Given the description of an element on the screen output the (x, y) to click on. 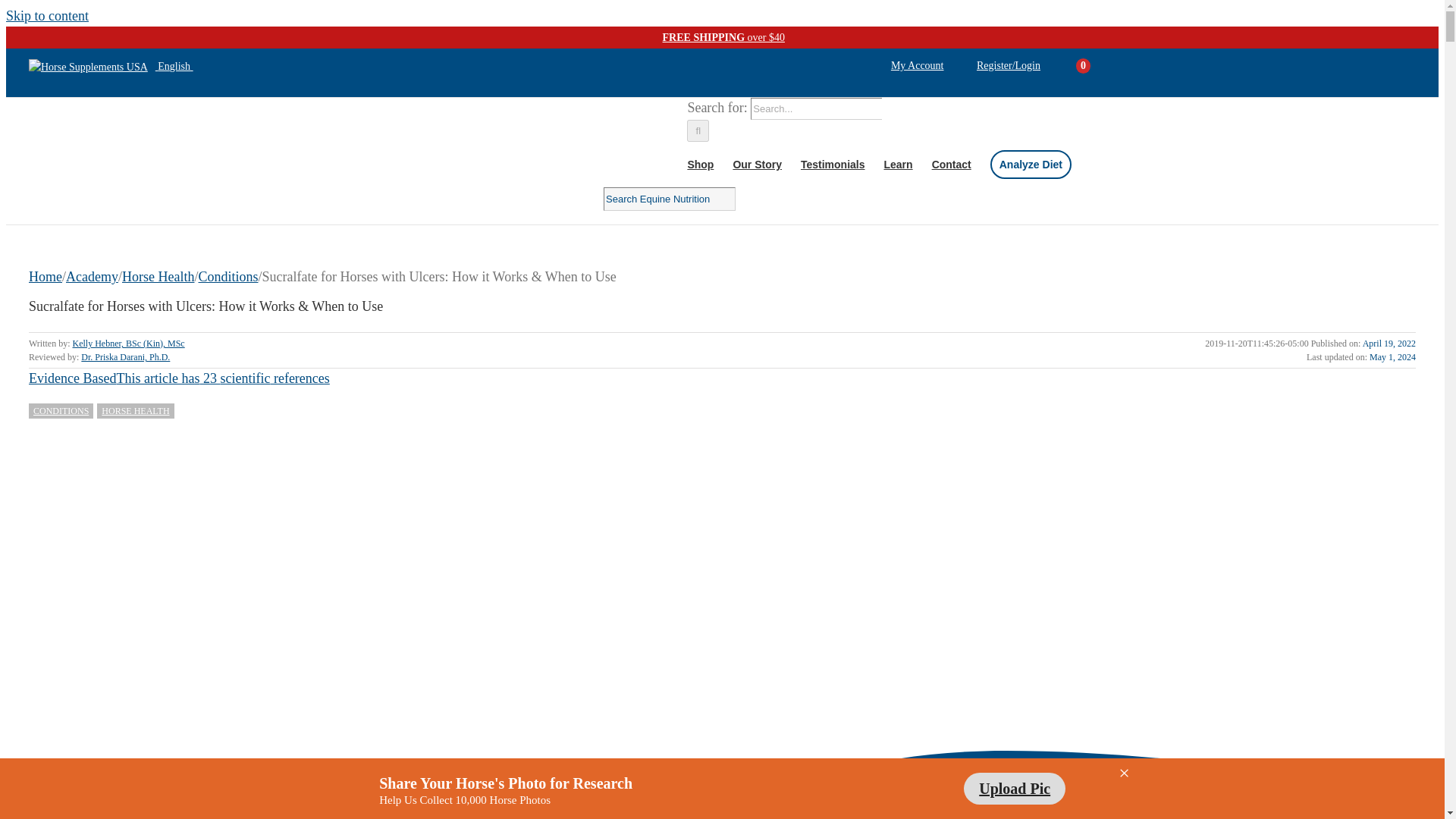
0 (1082, 66)
My Account (917, 65)
Posts by Kelly Hebner (128, 343)
Skip to content (46, 15)
English (111, 66)
Our Story (756, 164)
View your shopping cart (1082, 66)
Shop (700, 164)
View your shopping cart (1066, 66)
Learn (897, 164)
Testimonials (832, 164)
